Given the description of an element on the screen output the (x, y) to click on. 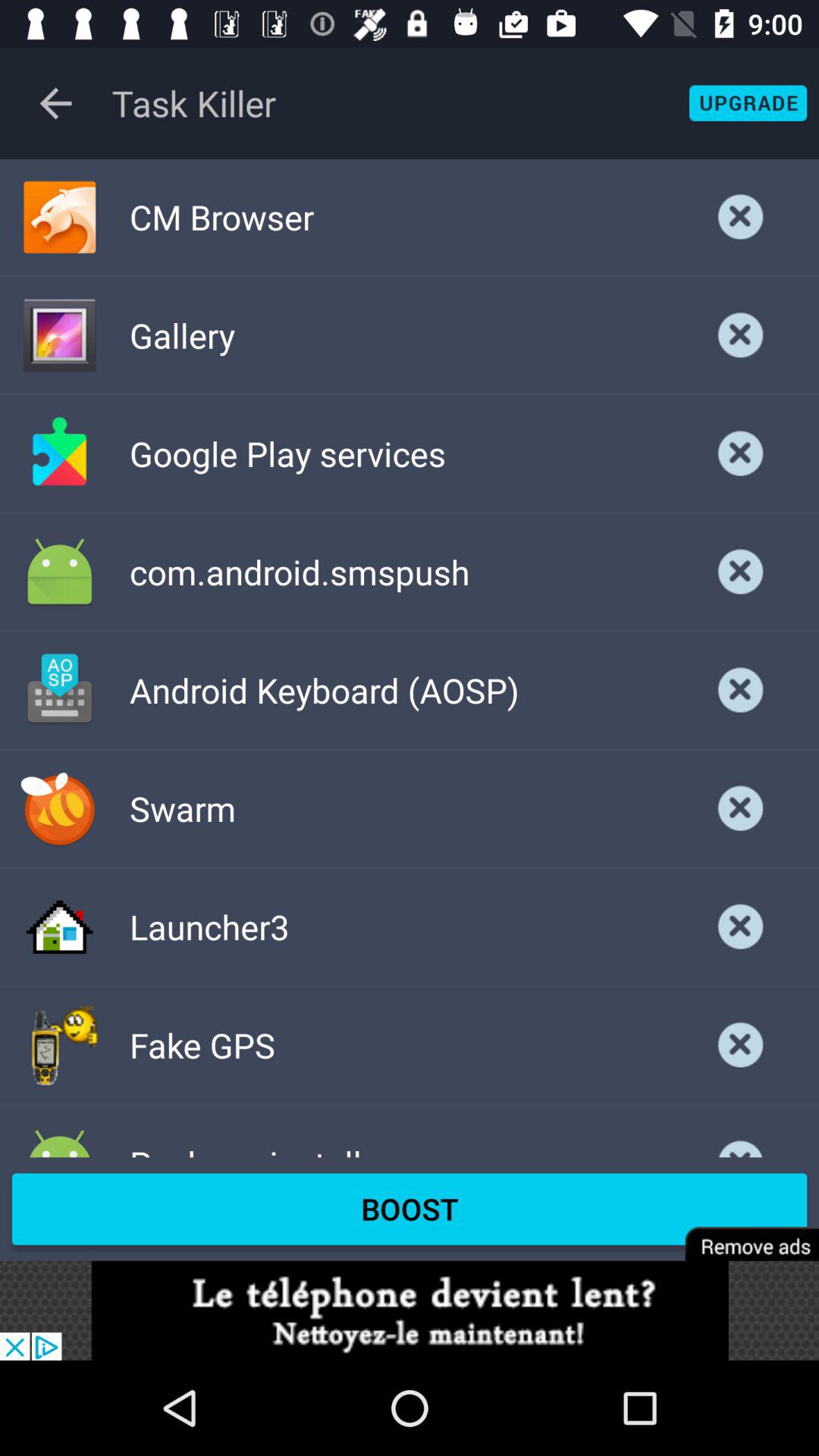
remove page (742, 1233)
